Given the description of an element on the screen output the (x, y) to click on. 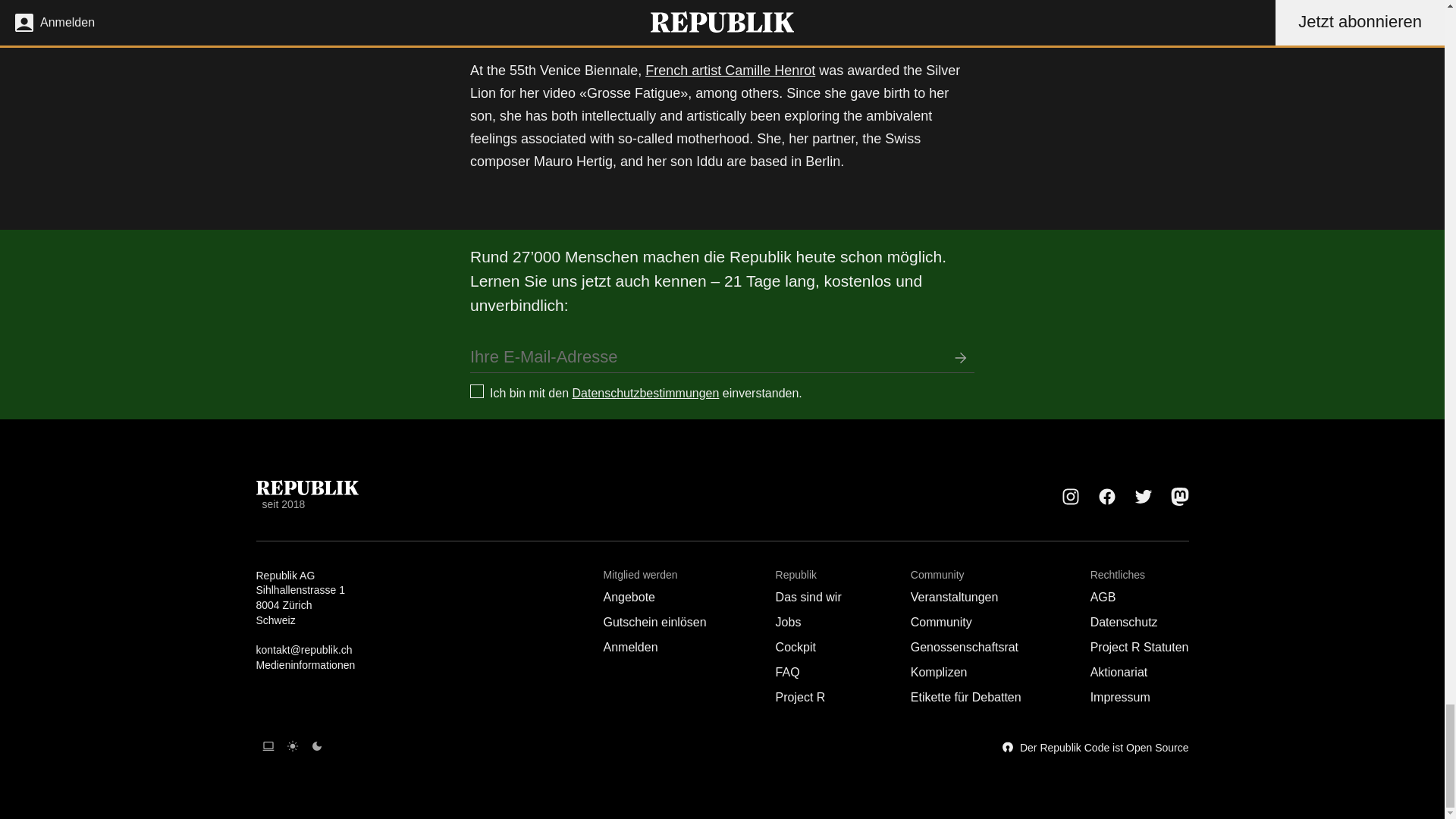
Cockpit (795, 646)
Anmelden (631, 646)
Angebote (630, 596)
FAQ (787, 671)
seit 2018 (307, 496)
Jobs (789, 621)
French artist Camille Henrot (730, 70)
Project R (800, 697)
Das sind wir (808, 596)
